Given the description of an element on the screen output the (x, y) to click on. 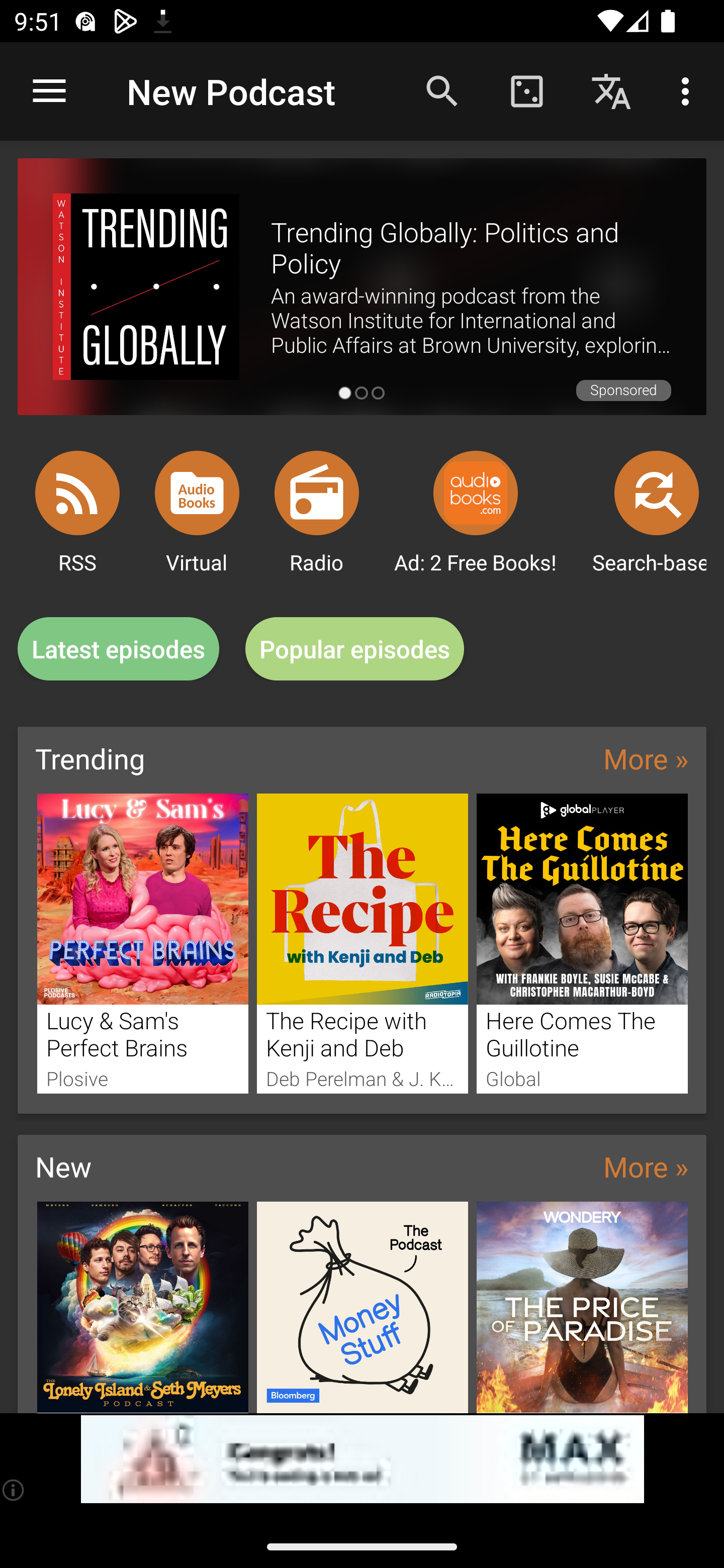
Open navigation sidebar (49, 91)
Search (442, 90)
Random pick (526, 90)
Podcast languages (611, 90)
More options (688, 90)
RSS (77, 492)
Virtual (196, 492)
Radio (316, 492)
Search-based (656, 492)
Latest episodes (118, 648)
Popular episodes (354, 648)
More » (645, 757)
Lucy & Sam's Perfect Brains Plosive (142, 942)
Here Comes The Guillotine Global (581, 942)
More » (645, 1166)
The Lonely Island and Seth Meyers Podcast (142, 1306)
Money Stuff: The Podcast (362, 1306)
The Price of Paradise (581, 1306)
app-monetization (362, 1459)
(i) (14, 1489)
